Given the description of an element on the screen output the (x, y) to click on. 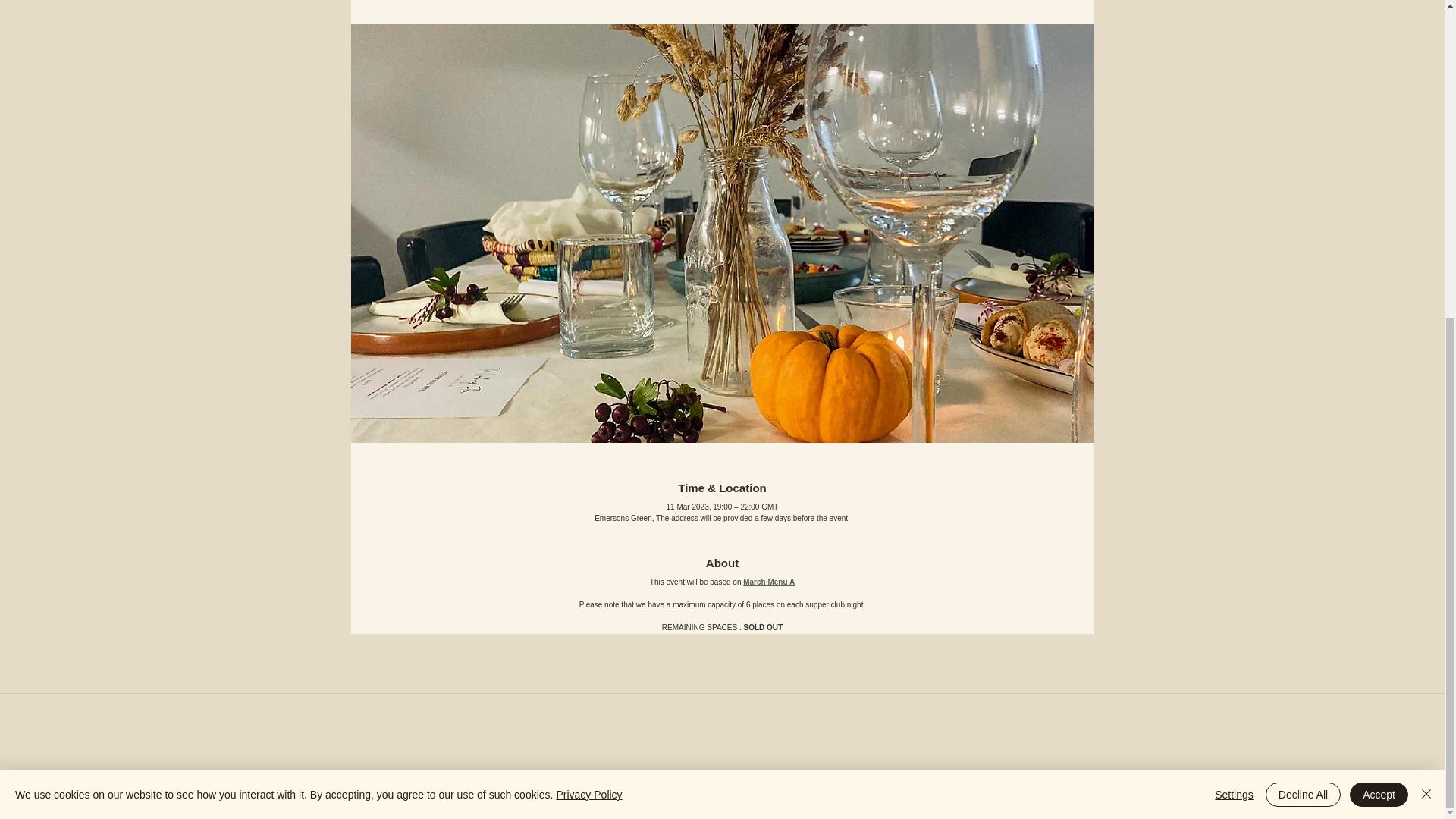
Decline All (1302, 279)
Privacy Policy (588, 279)
Accept (1378, 279)
March Menu A (768, 582)
